Given the description of an element on the screen output the (x, y) to click on. 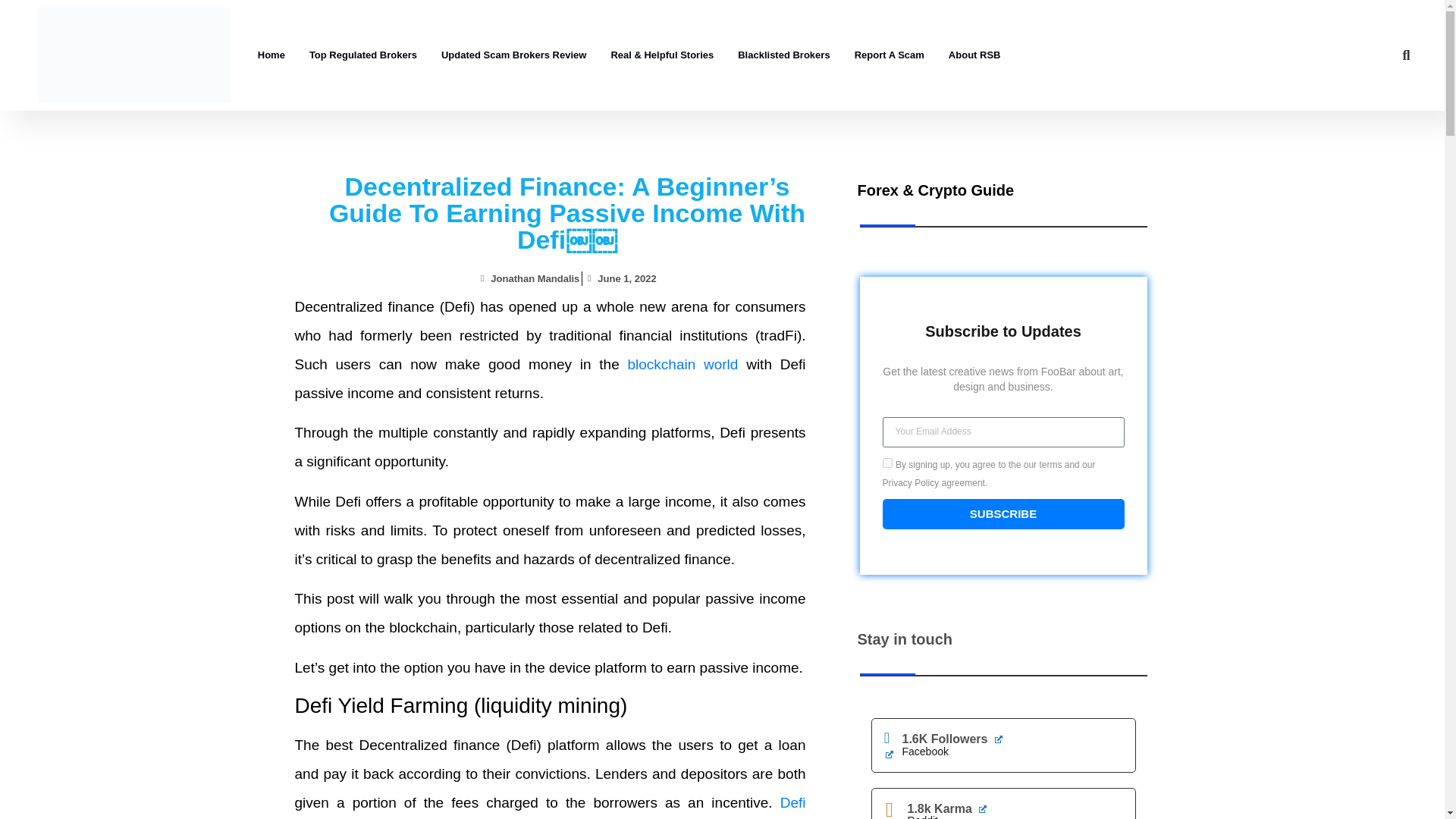
Home (271, 54)
About RSB (974, 54)
Top Regulated Brokers (363, 54)
Blacklisted Brokers (783, 54)
Updated Scam Brokers Review (513, 54)
Report A Scam (889, 54)
